Given the description of an element on the screen output the (x, y) to click on. 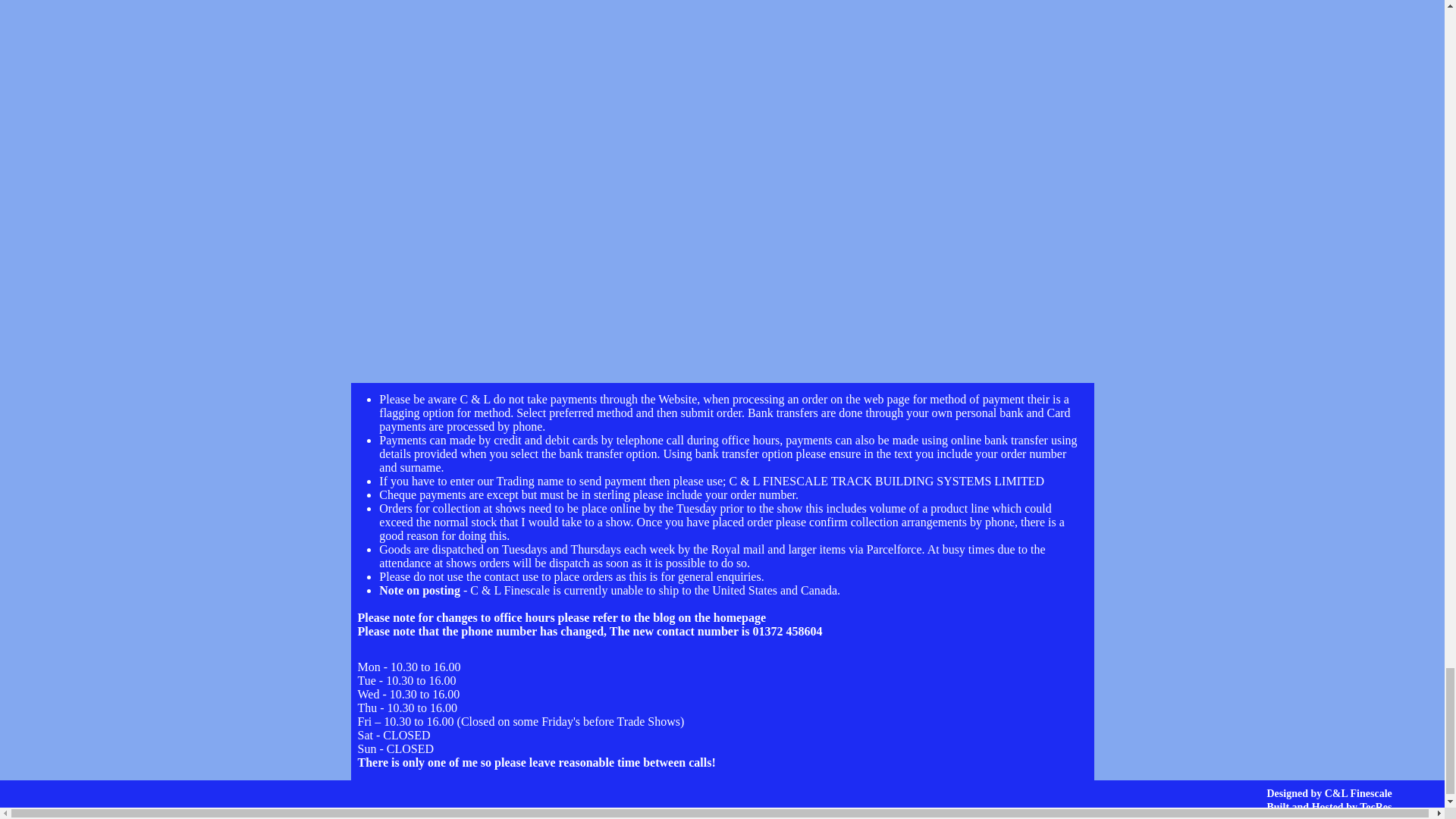
TecRes (1375, 807)
